Given the description of an element on the screen output the (x, y) to click on. 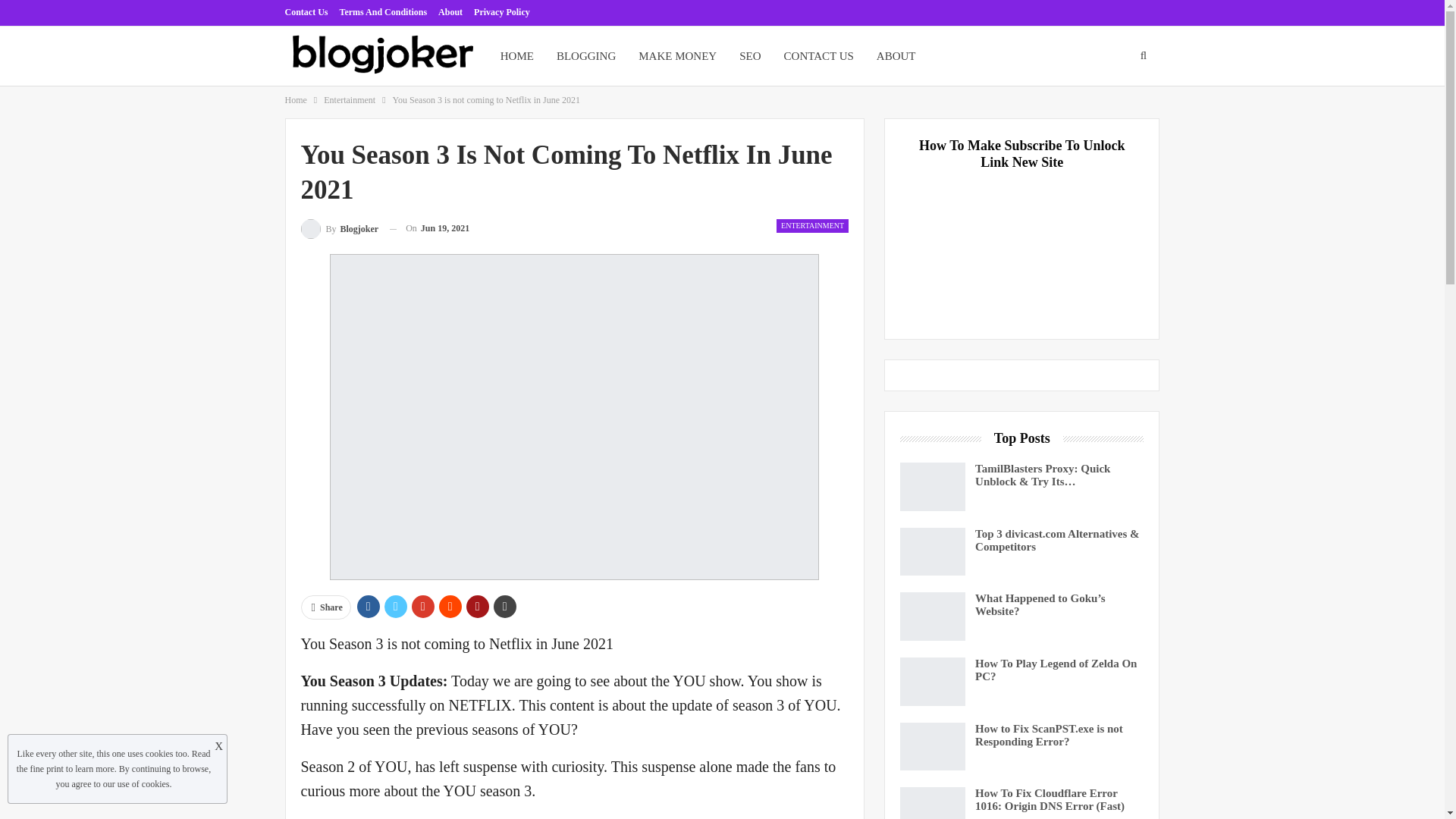
Contact Us (307, 11)
Browse Author Articles (338, 228)
ENTERTAINMENT (812, 225)
Privacy Policy (501, 11)
Home (296, 99)
CONTACT US (818, 55)
By Blogjoker (338, 228)
BLOGGING (585, 55)
About (450, 11)
ABOUT (895, 55)
